Given the description of an element on the screen output the (x, y) to click on. 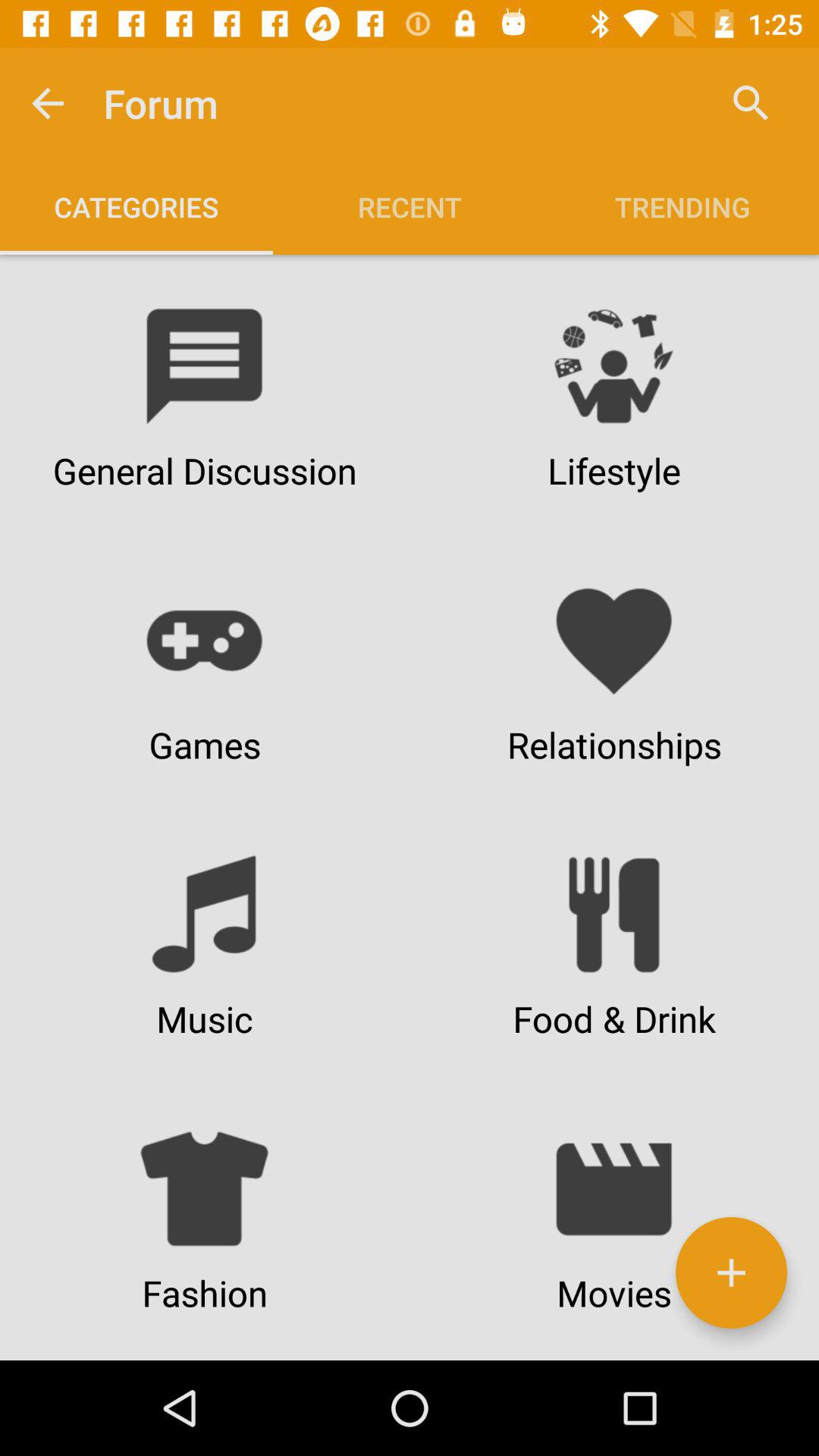
add more (731, 1272)
